Given the description of an element on the screen output the (x, y) to click on. 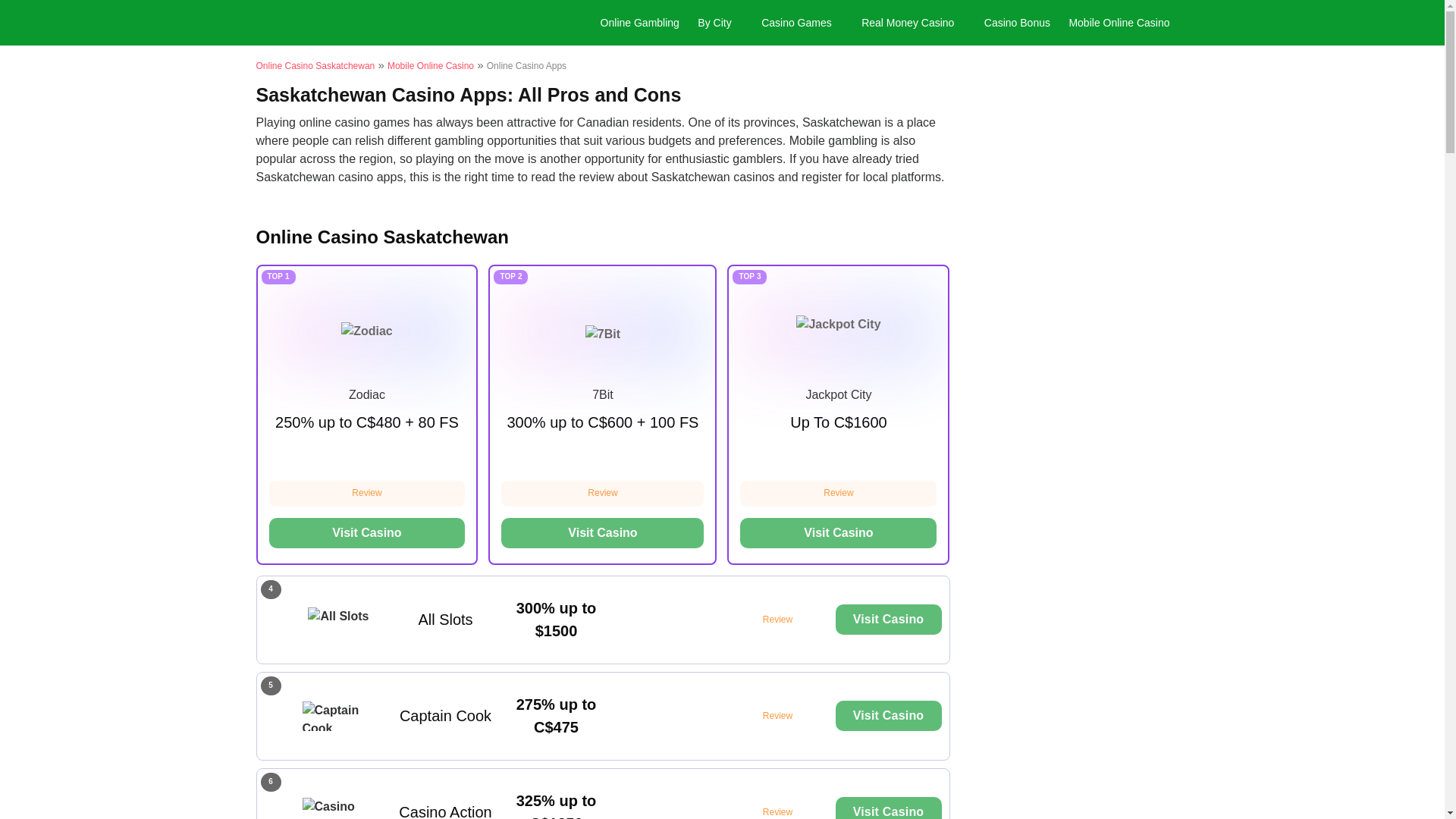
Review (777, 715)
Review (837, 493)
Visit Casino (888, 619)
Casino Bonus (1016, 22)
Visit Casino (888, 807)
Visit Casino (365, 532)
Visit Casino (601, 532)
Online Gambling (639, 22)
Mobile Online Casino (430, 65)
Review (601, 493)
